Given the description of an element on the screen output the (x, y) to click on. 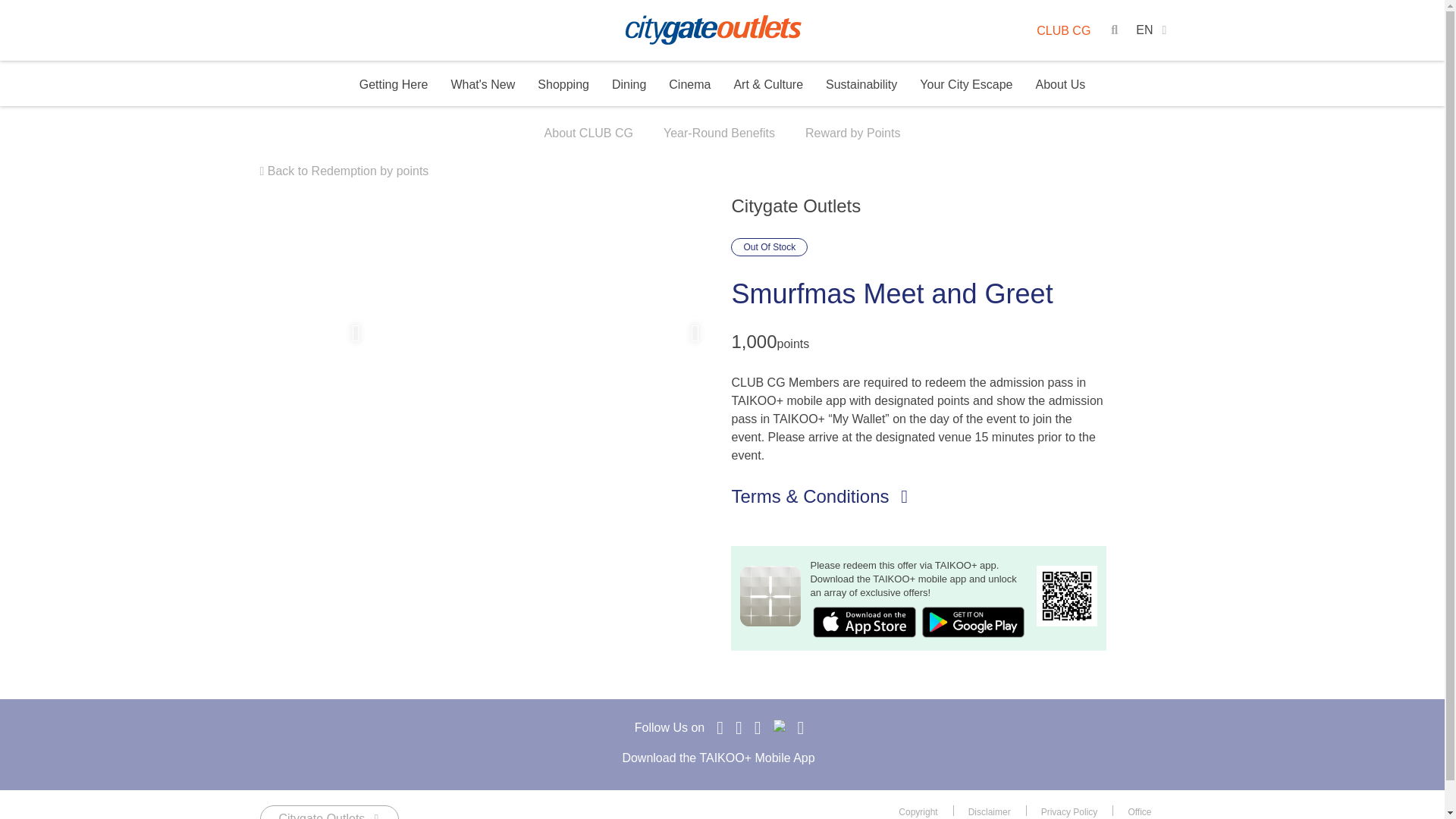
Year-Round Benefits (719, 134)
Getting Here (393, 83)
About CLUB CG (588, 134)
EN (1151, 30)
Reward by Points (852, 134)
Back to Redemption by points (343, 170)
What's New (482, 83)
CLUB CG (1063, 30)
Your City Escape (965, 85)
Sustainability (860, 83)
Shopping (563, 83)
Dining (628, 83)
About Us (1059, 85)
Cinema (689, 83)
